Given the description of an element on the screen output the (x, y) to click on. 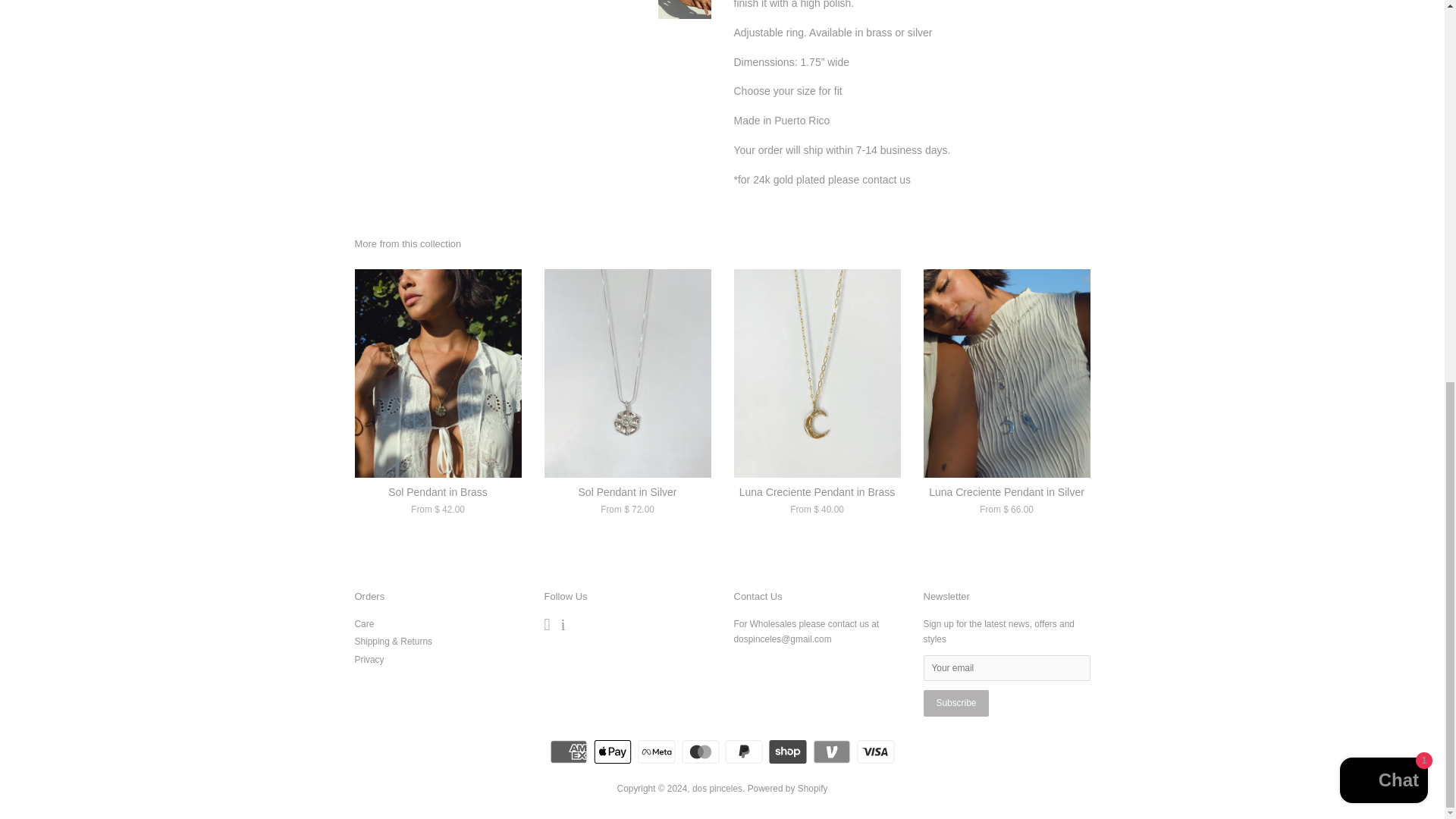
Subscribe (956, 703)
Shopify online store chat (1383, 68)
